Given the description of an element on the screen output the (x, y) to click on. 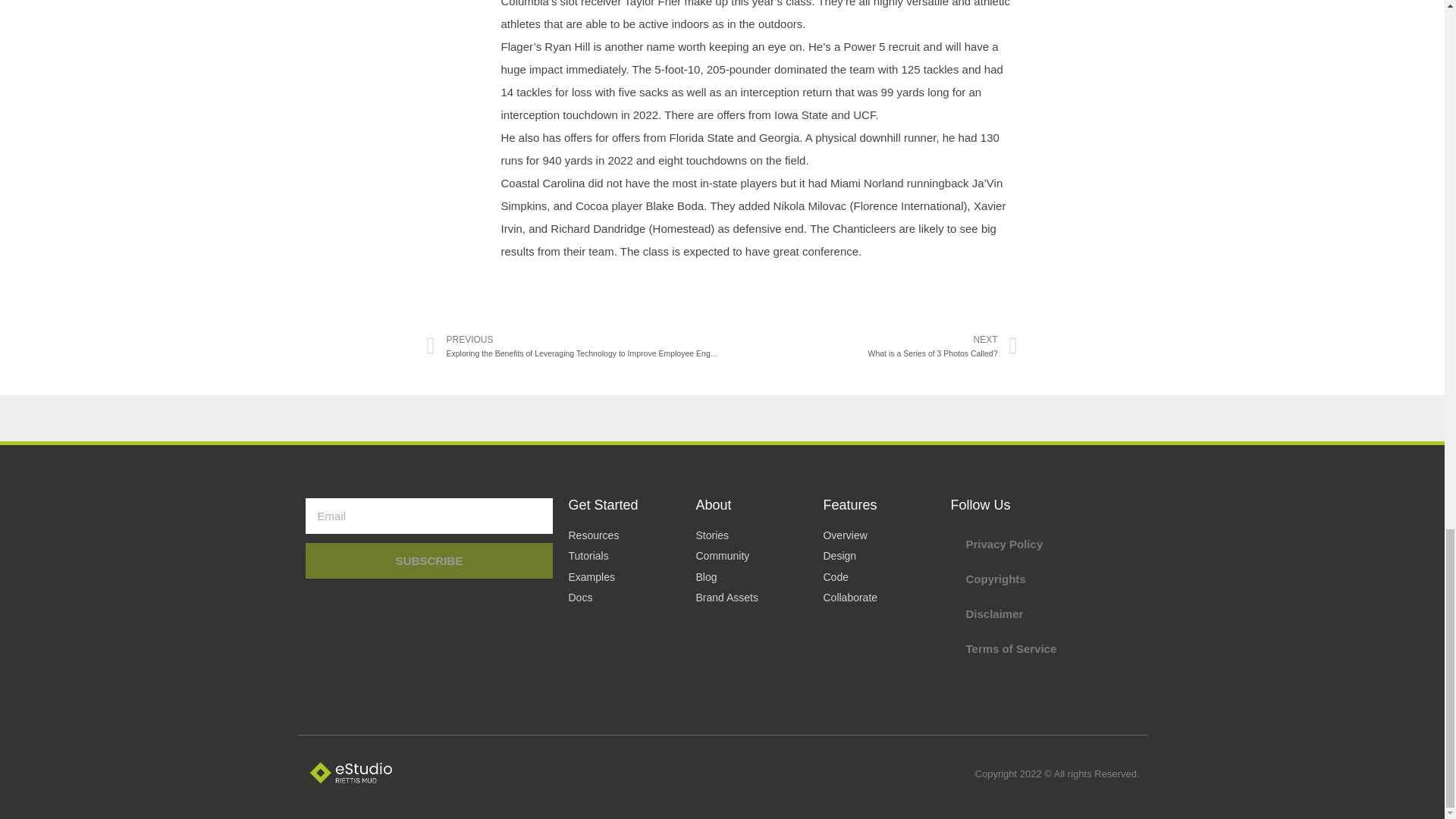
Copyrights (869, 346)
Privacy Policy (1044, 579)
Terms of Service (1044, 544)
SUBSCRIBE (1044, 648)
Disclaimer (428, 560)
